Given the description of an element on the screen output the (x, y) to click on. 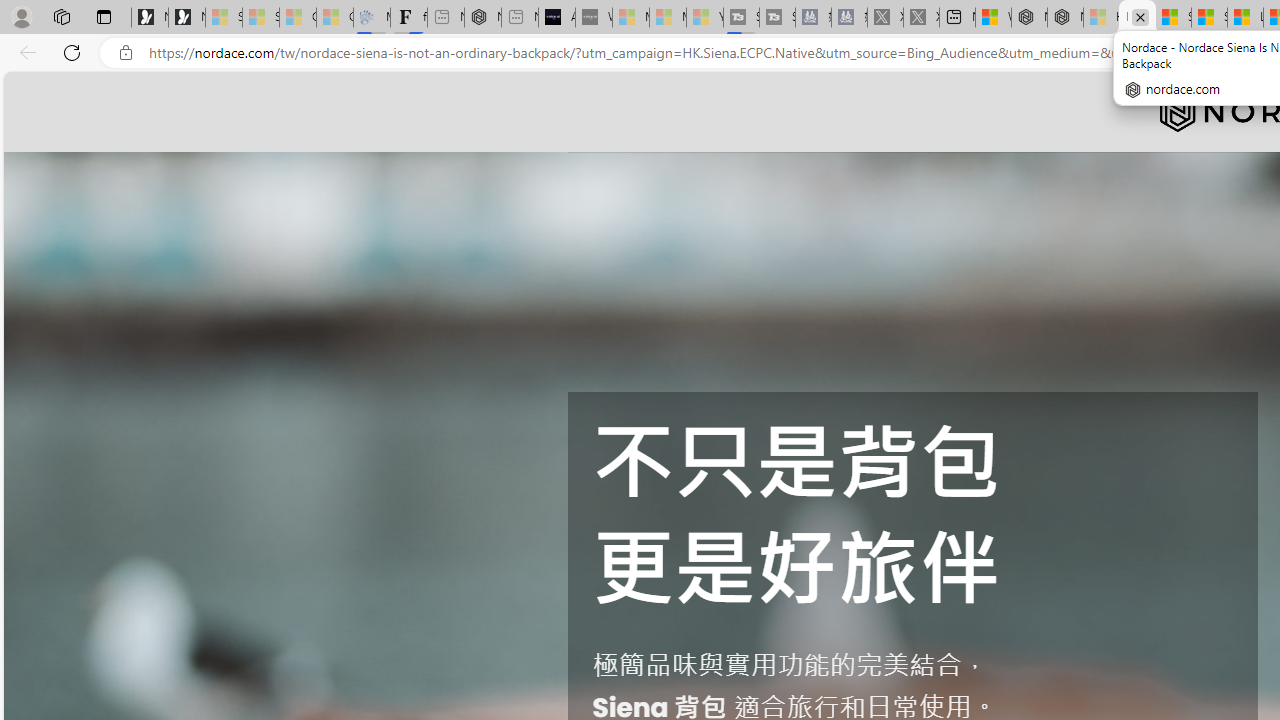
What's the best AI voice generator? - voice.ai - Sleeping (593, 17)
Newsletter Sign Up (186, 17)
Nordace - Nordace Siena Is Not An Ordinary Backpack (1137, 17)
AI Voice Changer for PC and Mac - Voice.ai (556, 17)
